Given the description of an element on the screen output the (x, y) to click on. 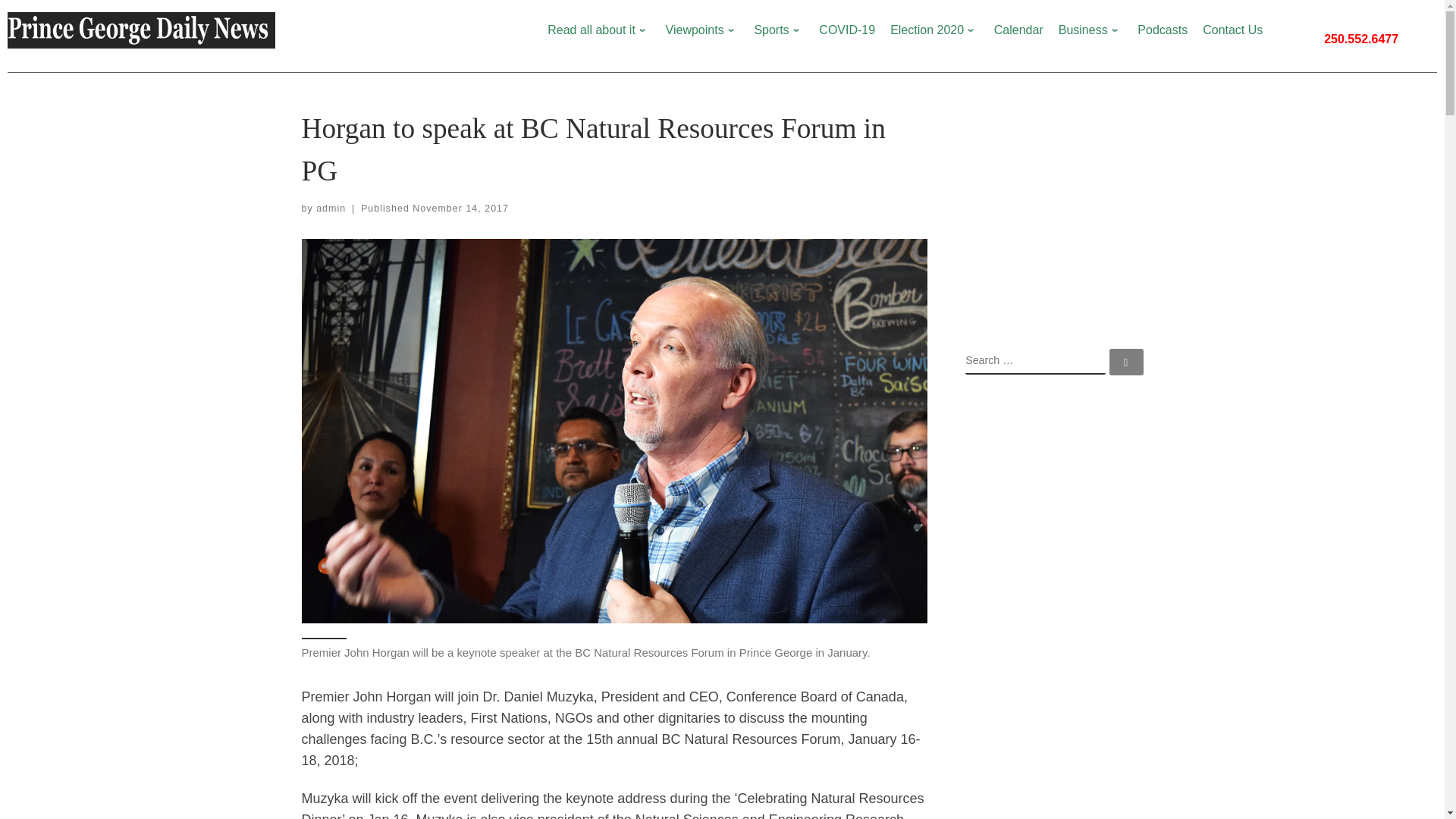
Election 2020 (934, 30)
View all posts by admin (330, 208)
Business (1090, 30)
Calendar (1018, 30)
November 14, 2017 (460, 208)
Viewpoints (702, 30)
Read all about it (598, 30)
Podcasts (1162, 30)
COVID-19 (847, 30)
Contact Us (1232, 30)
